Given the description of an element on the screen output the (x, y) to click on. 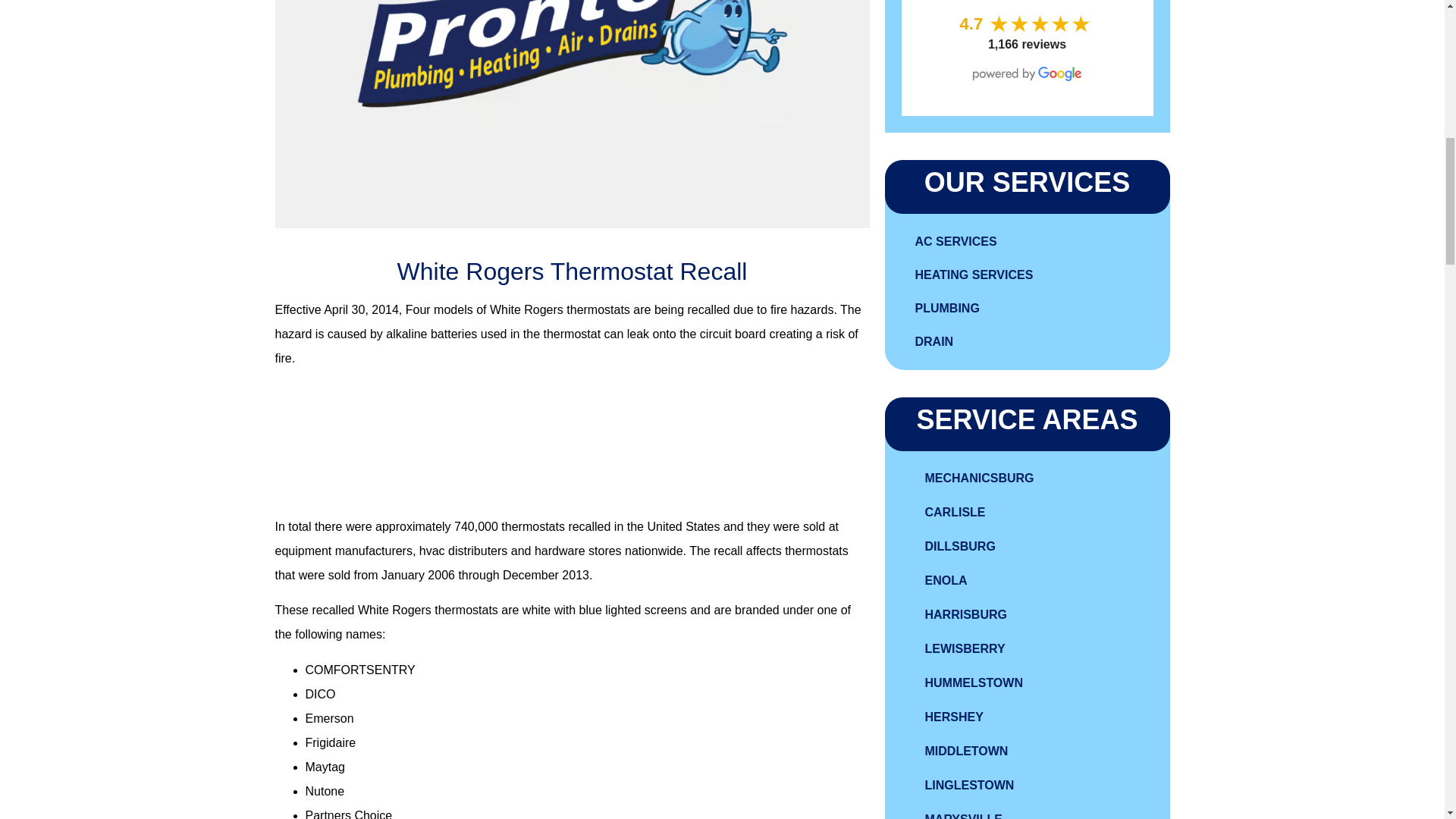
Powered by Google (1026, 73)
